Given the description of an element on the screen output the (x, y) to click on. 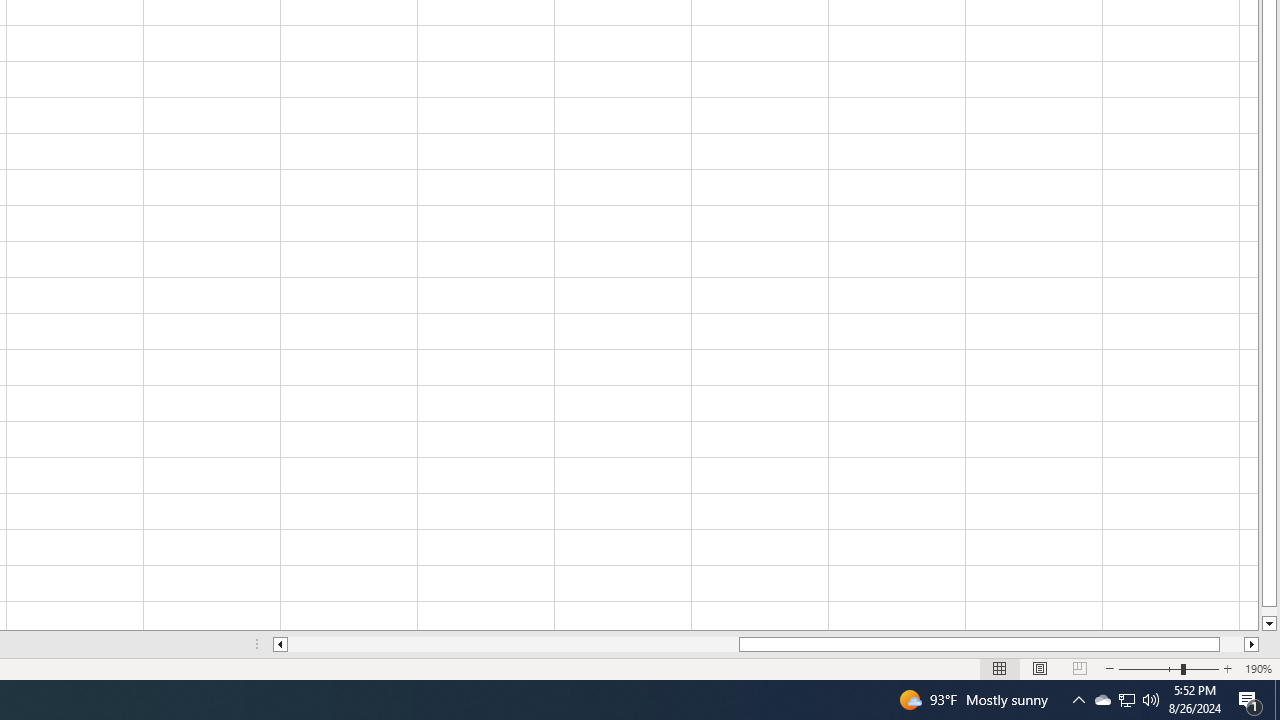
Page left (513, 644)
